Given the description of an element on the screen output the (x, y) to click on. 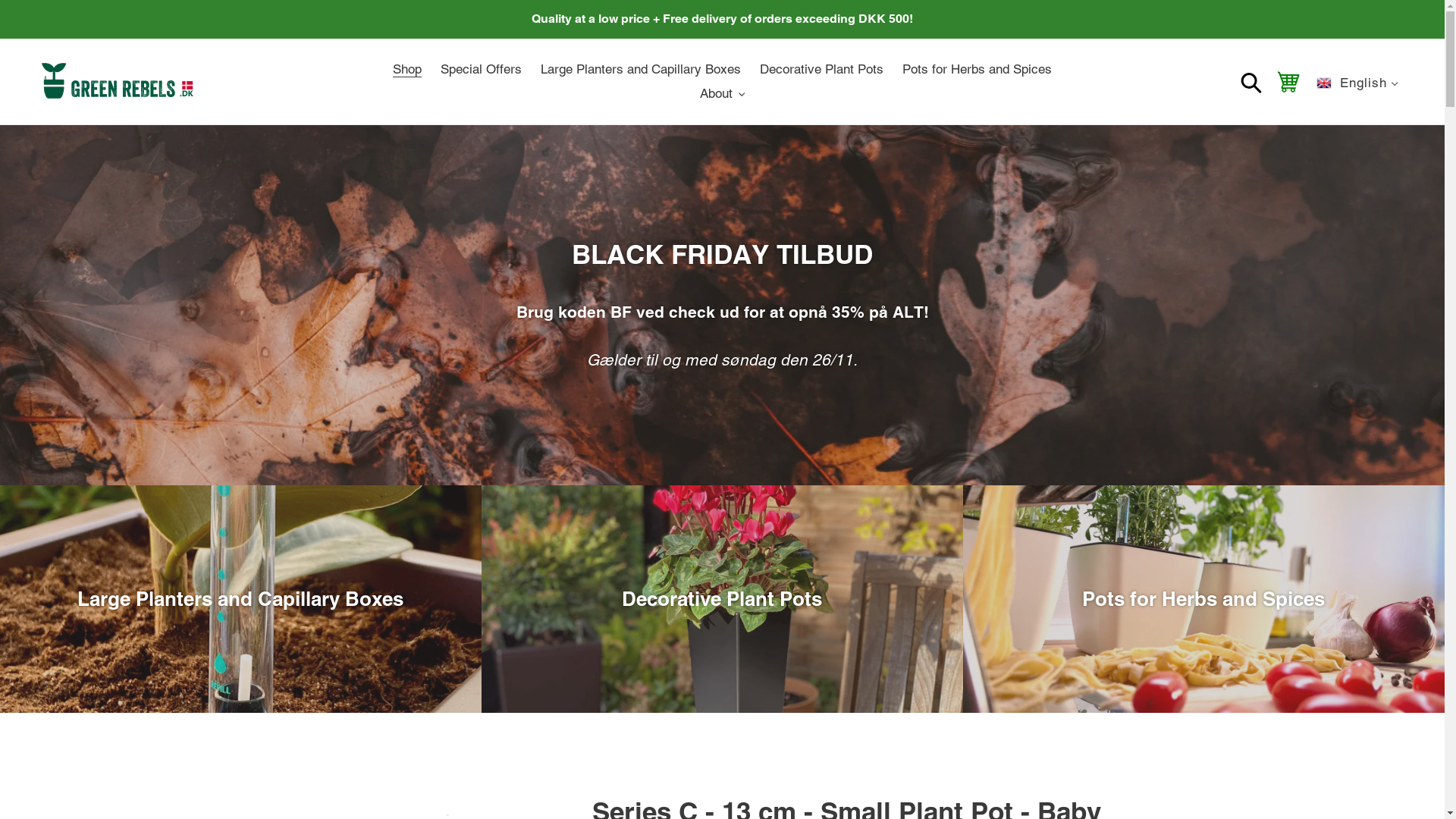
Large Planters and Capillary Boxes Element type: text (240, 598)
About Element type: text (722, 93)
Pots for Herbs and Spices Element type: text (1203, 598)
Special Offers Element type: text (481, 69)
Decorative Plant Pots Element type: text (821, 69)
Search Element type: text (1252, 81)
Pots for Herbs and Spices Element type: text (976, 69)
Shop Element type: text (407, 69)
Cart Element type: text (1288, 81)
Large Planters and Capillary Boxes Element type: text (640, 69)
Decorative Plant Pots Element type: text (722, 598)
